Given the description of an element on the screen output the (x, y) to click on. 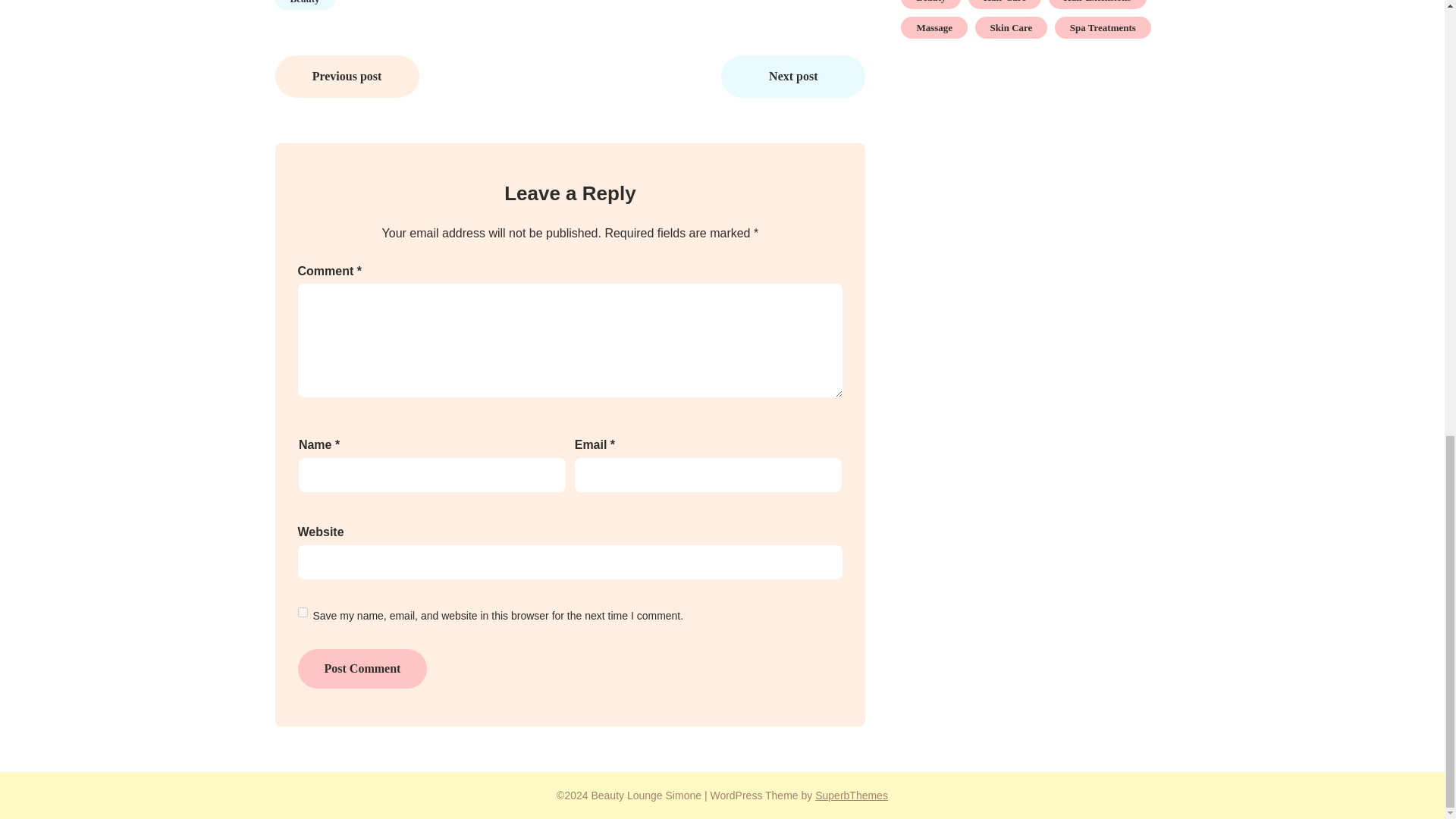
Beauty (930, 4)
Hair Care (1004, 4)
Post Comment (361, 668)
Next post (792, 76)
Previous post (347, 76)
Post Comment (361, 668)
yes (302, 612)
Beauty (304, 5)
